Given the description of an element on the screen output the (x, y) to click on. 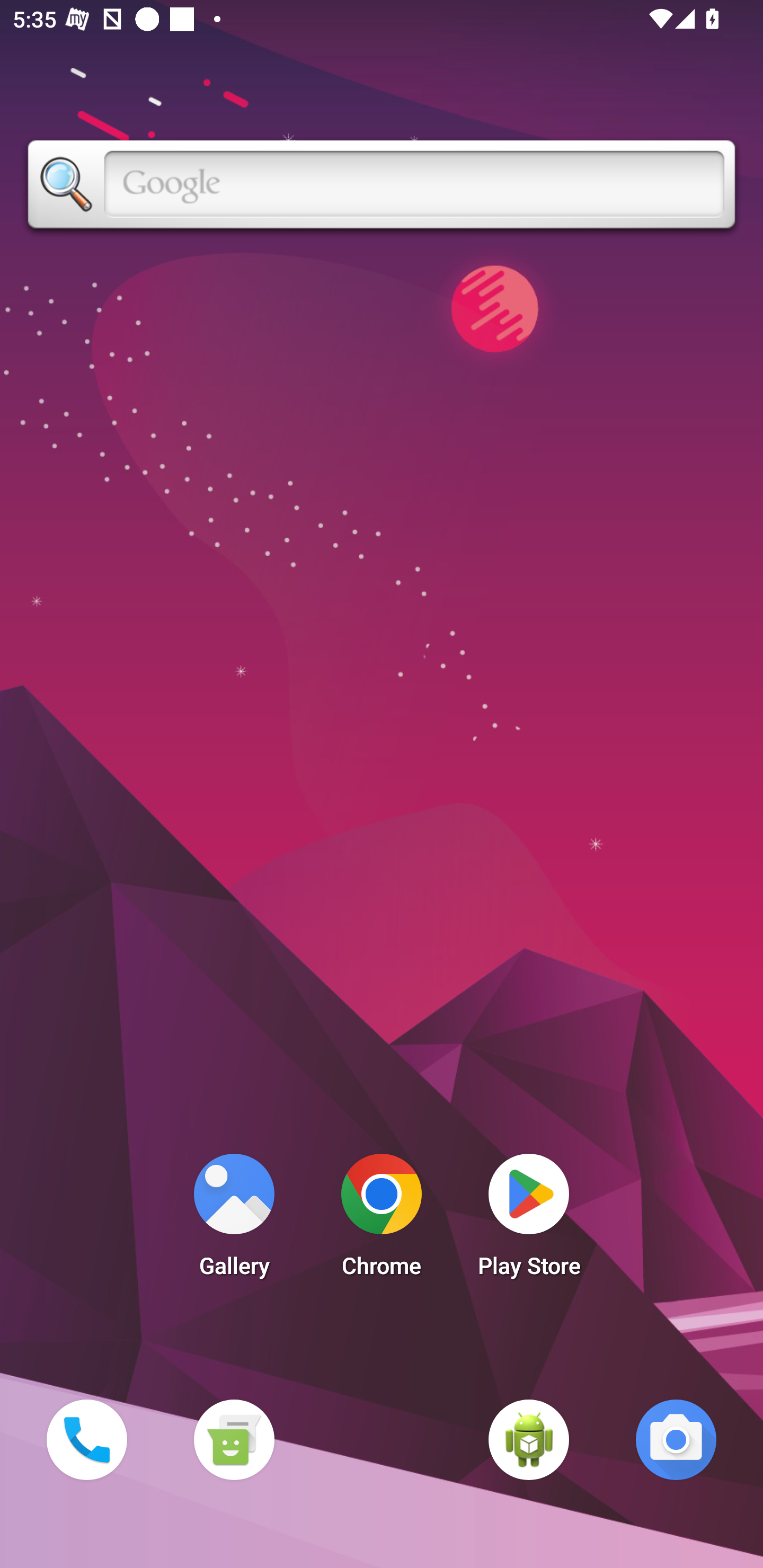
Gallery (233, 1220)
Chrome (381, 1220)
Play Store (528, 1220)
Phone (86, 1439)
Messaging (233, 1439)
WebView Browser Tester (528, 1439)
Camera (676, 1439)
